Given the description of an element on the screen output the (x, y) to click on. 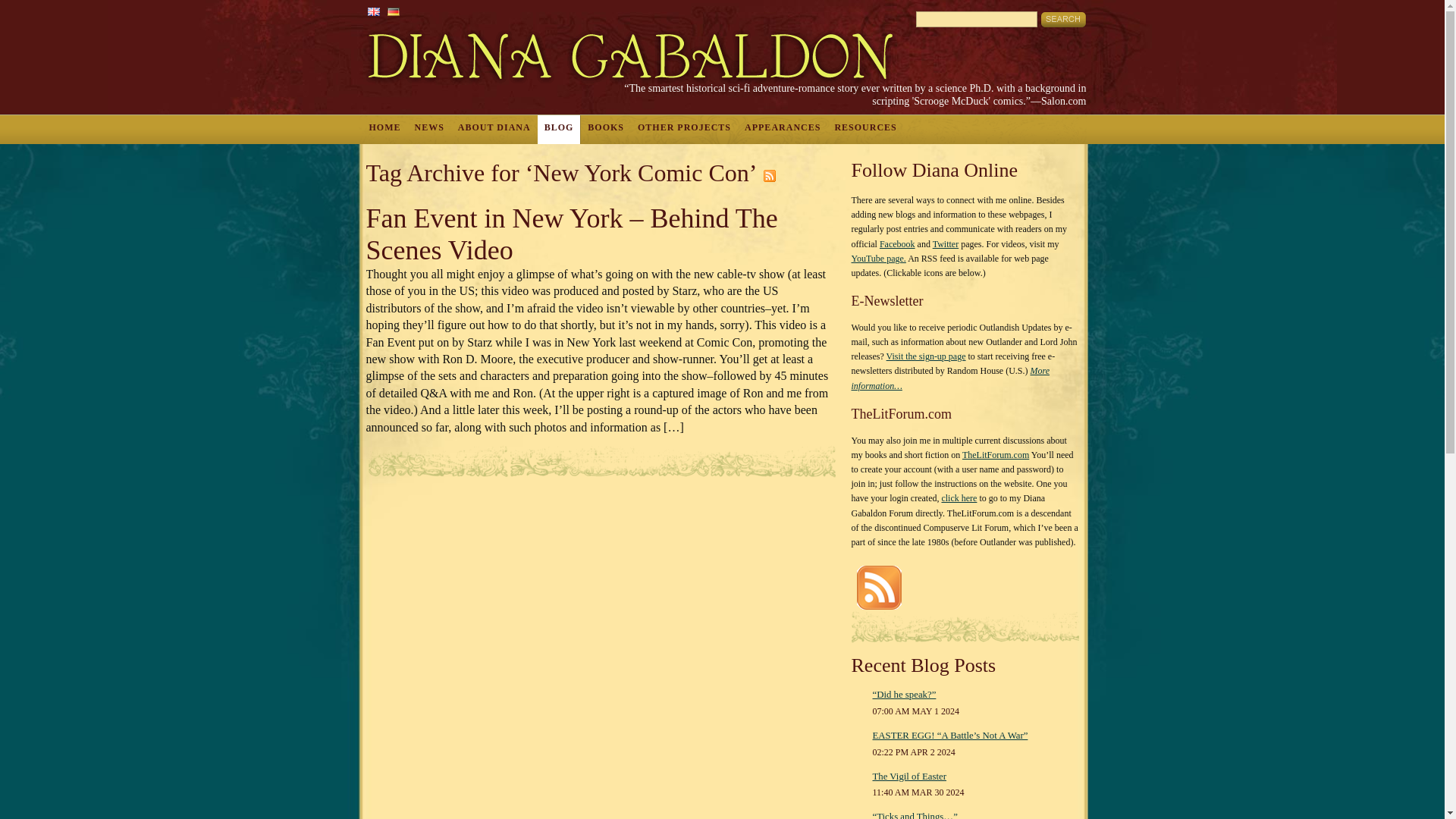
English version (372, 11)
German version (392, 11)
ABOUT DIANA (494, 129)
NEWS (429, 129)
BLOG (558, 129)
HOME (384, 129)
BOOKS (605, 129)
English (372, 11)
German (392, 11)
